Given the description of an element on the screen output the (x, y) to click on. 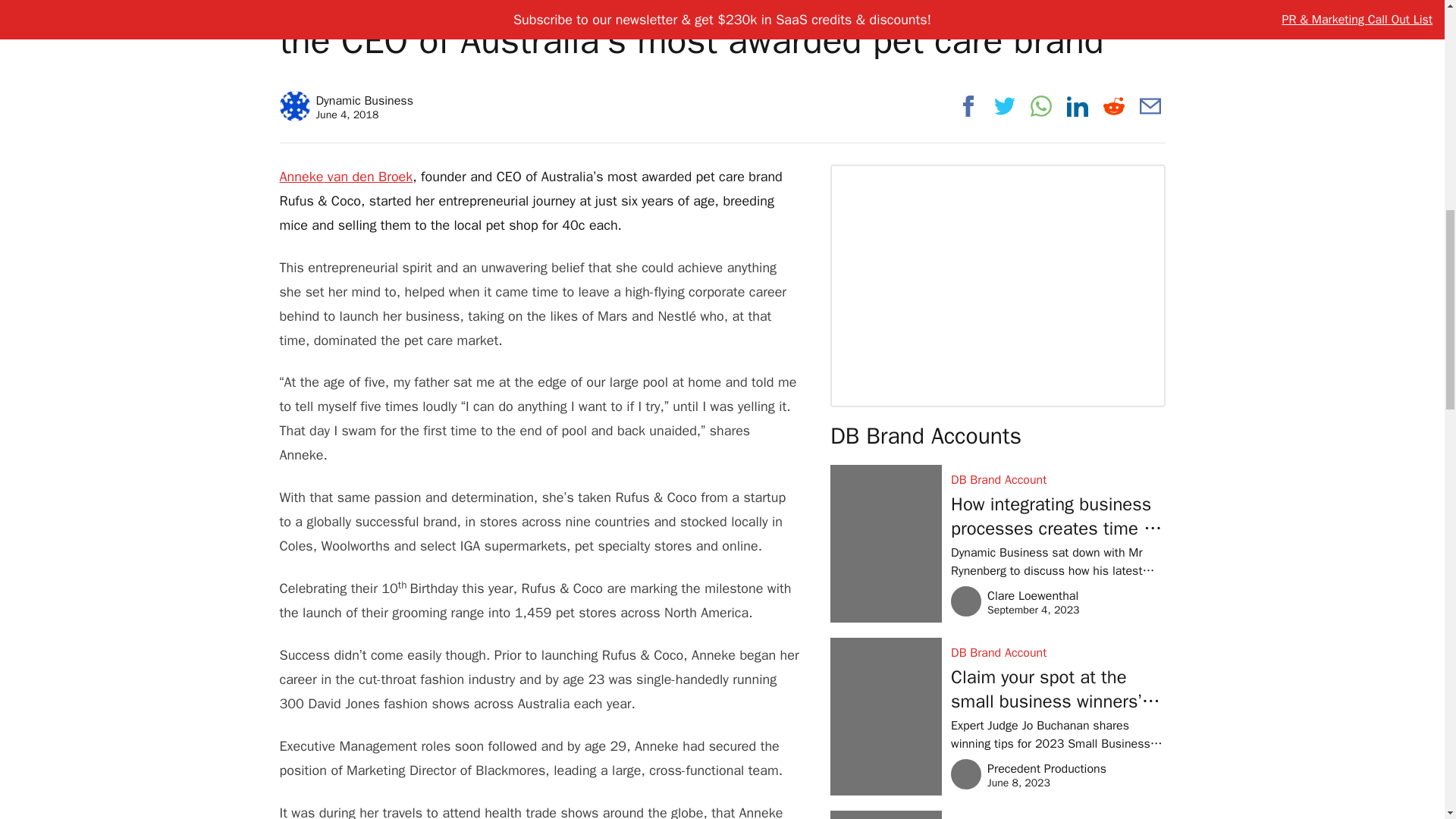
DB Brand Account (1057, 479)
Anneke van den Broek (345, 176)
